Given the description of an element on the screen output the (x, y) to click on. 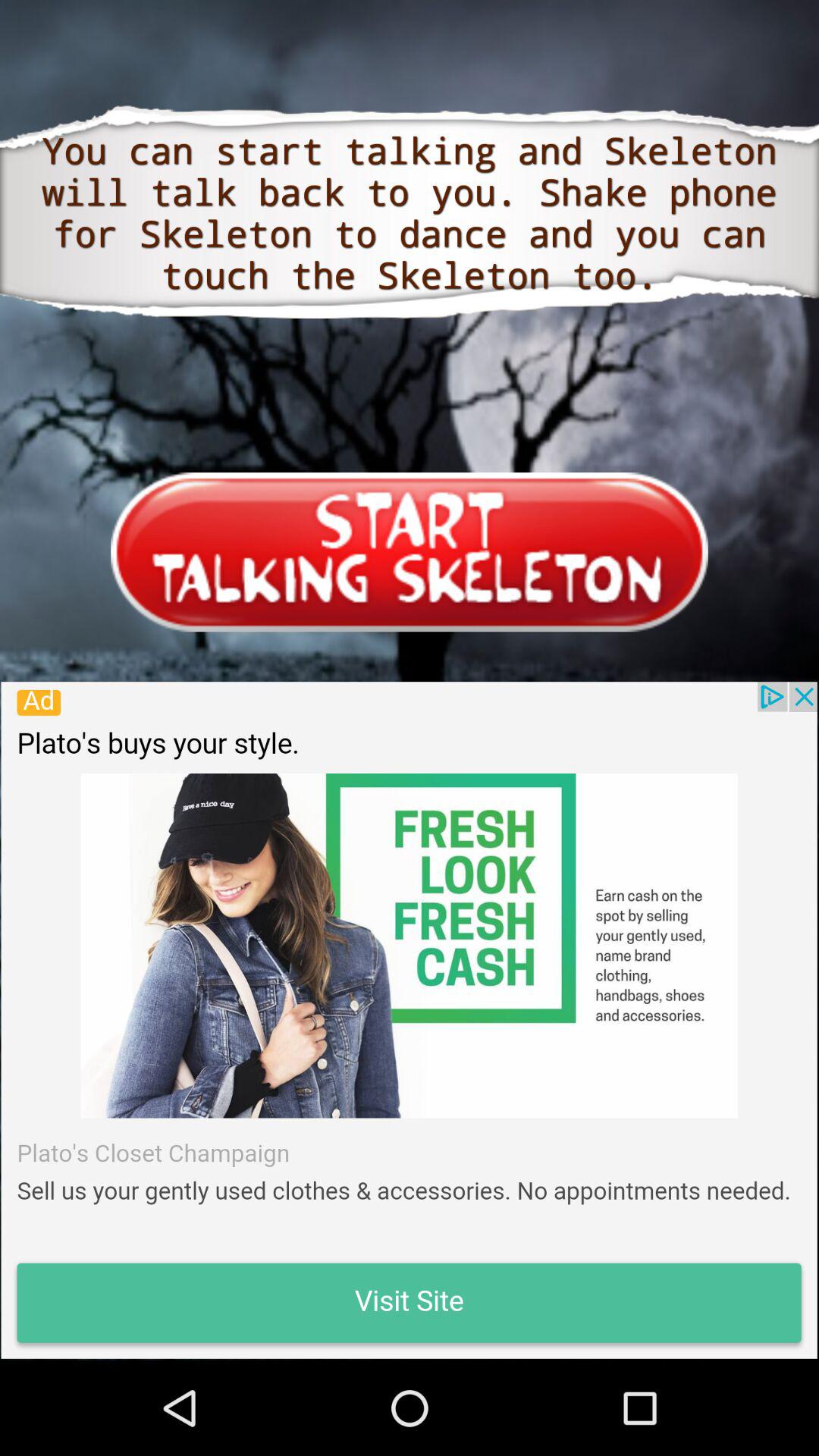
start a talking skeleton (409, 552)
